Given the description of an element on the screen output the (x, y) to click on. 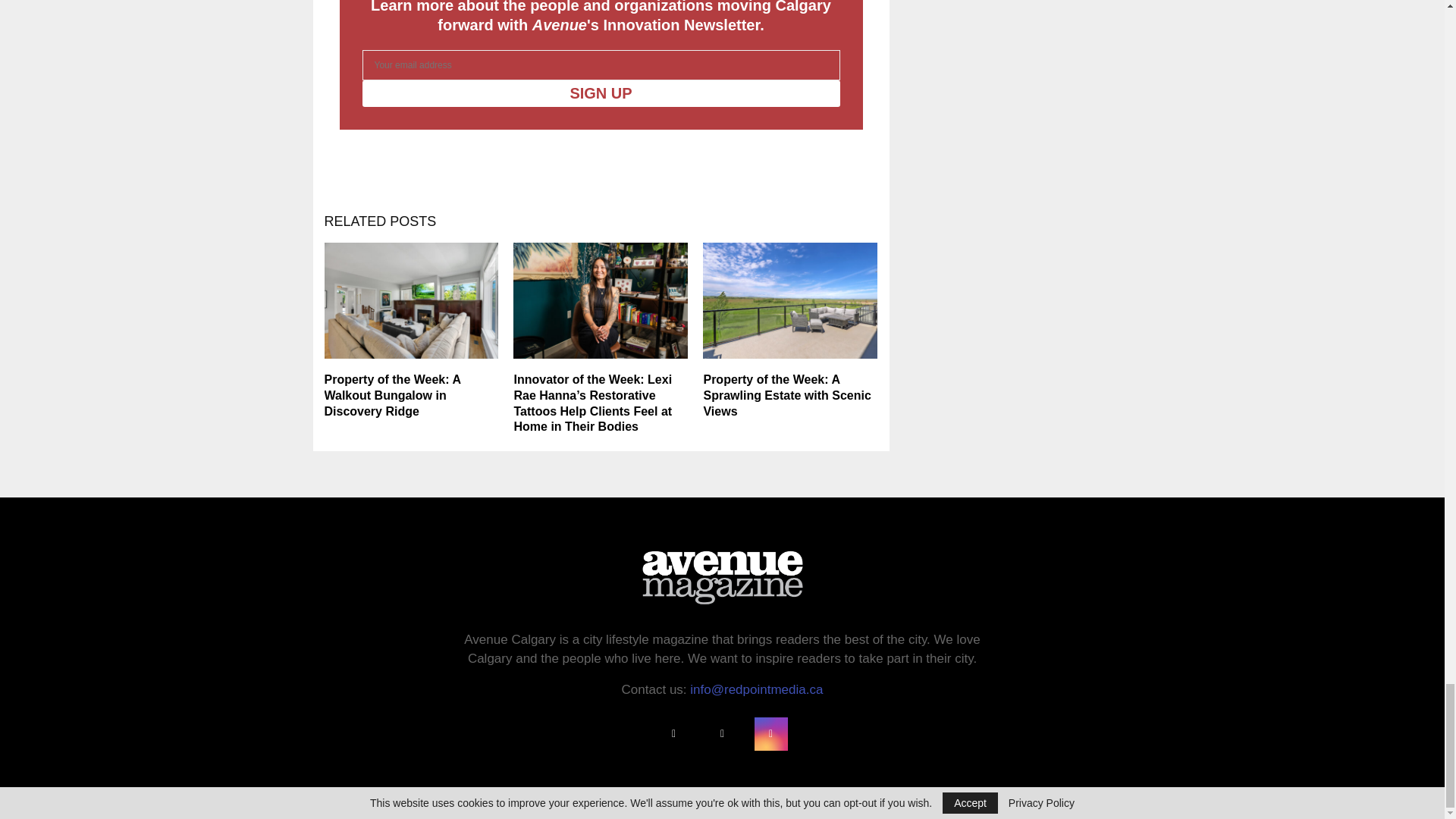
Twitter (721, 734)
Facebook (673, 734)
Instagram (770, 734)
Sign up (601, 93)
